Given the description of an element on the screen output the (x, y) to click on. 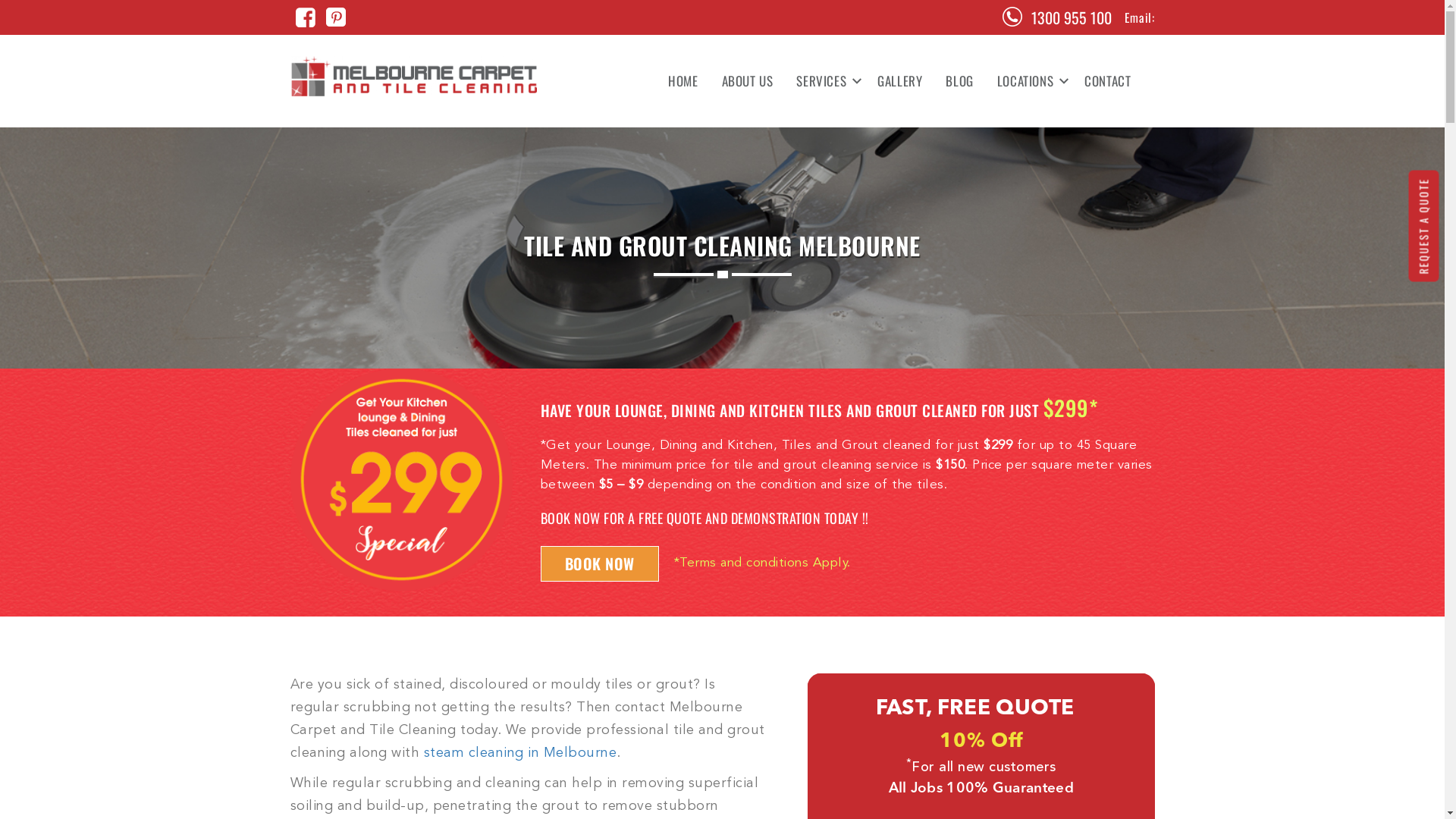
GALLERY Element type: text (899, 80)
steam cleaning in Melbourne Element type: text (519, 752)
Melbourne Carpet And Tile Cleaning Element type: hover (413, 76)
SERVICES Element type: text (824, 80)
BOOK NOW Element type: text (598, 563)
LOCATIONS Element type: text (1028, 80)
BLOG Element type: text (959, 80)
1300 955 100 Element type: text (1071, 17)
HOME Element type: text (682, 80)
CONTACT Element type: text (1101, 80)
ABOUT US Element type: text (747, 80)
